Given the description of an element on the screen output the (x, y) to click on. 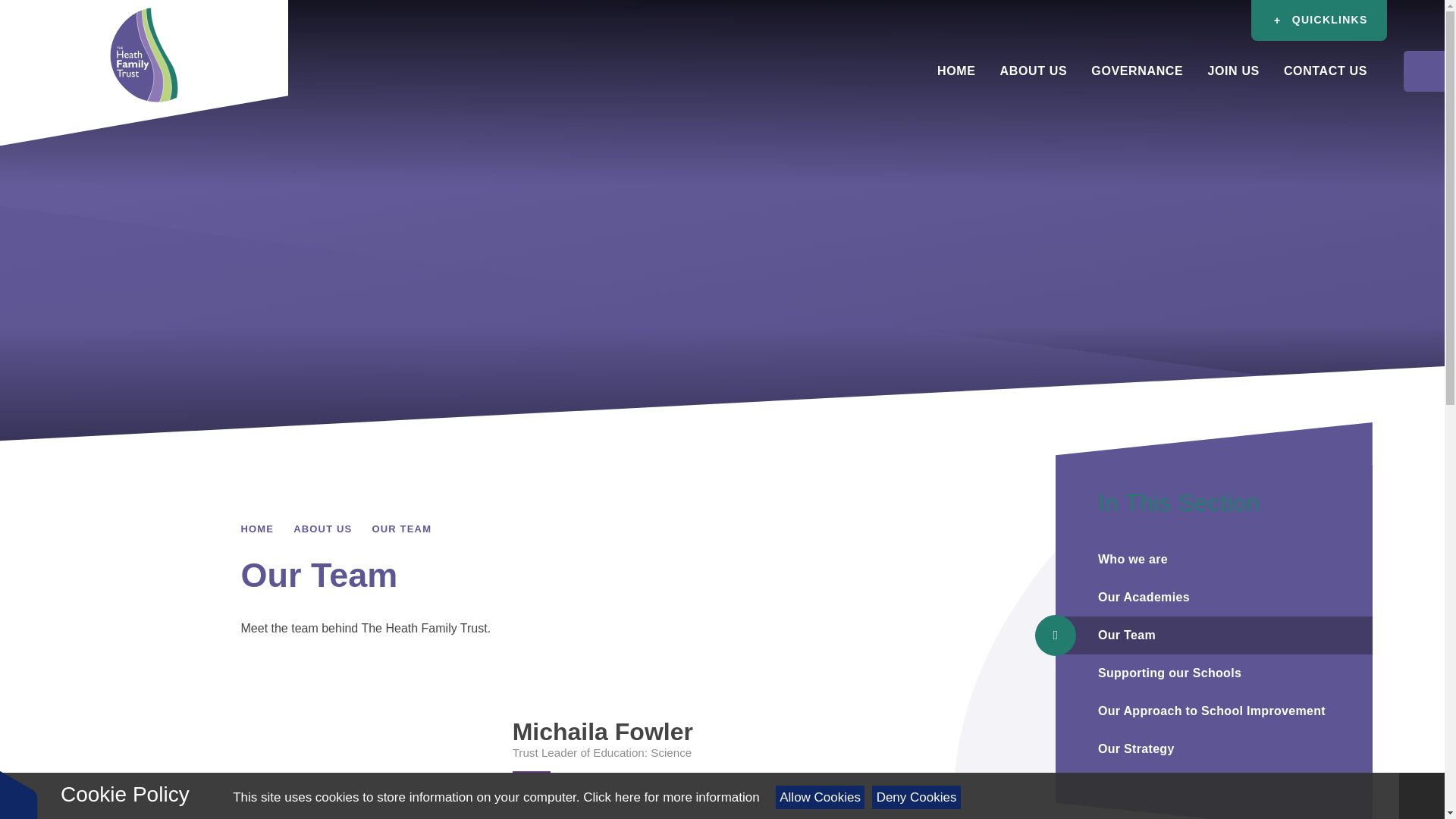
See cookie policy (670, 797)
QUICKLINKS (1318, 20)
GOVERNANCE (1136, 70)
HOME (956, 70)
JOIN US (1233, 70)
Allow Cookies (820, 797)
Deny Cookies (915, 797)
ABOUT US (1034, 70)
